Given the description of an element on the screen output the (x, y) to click on. 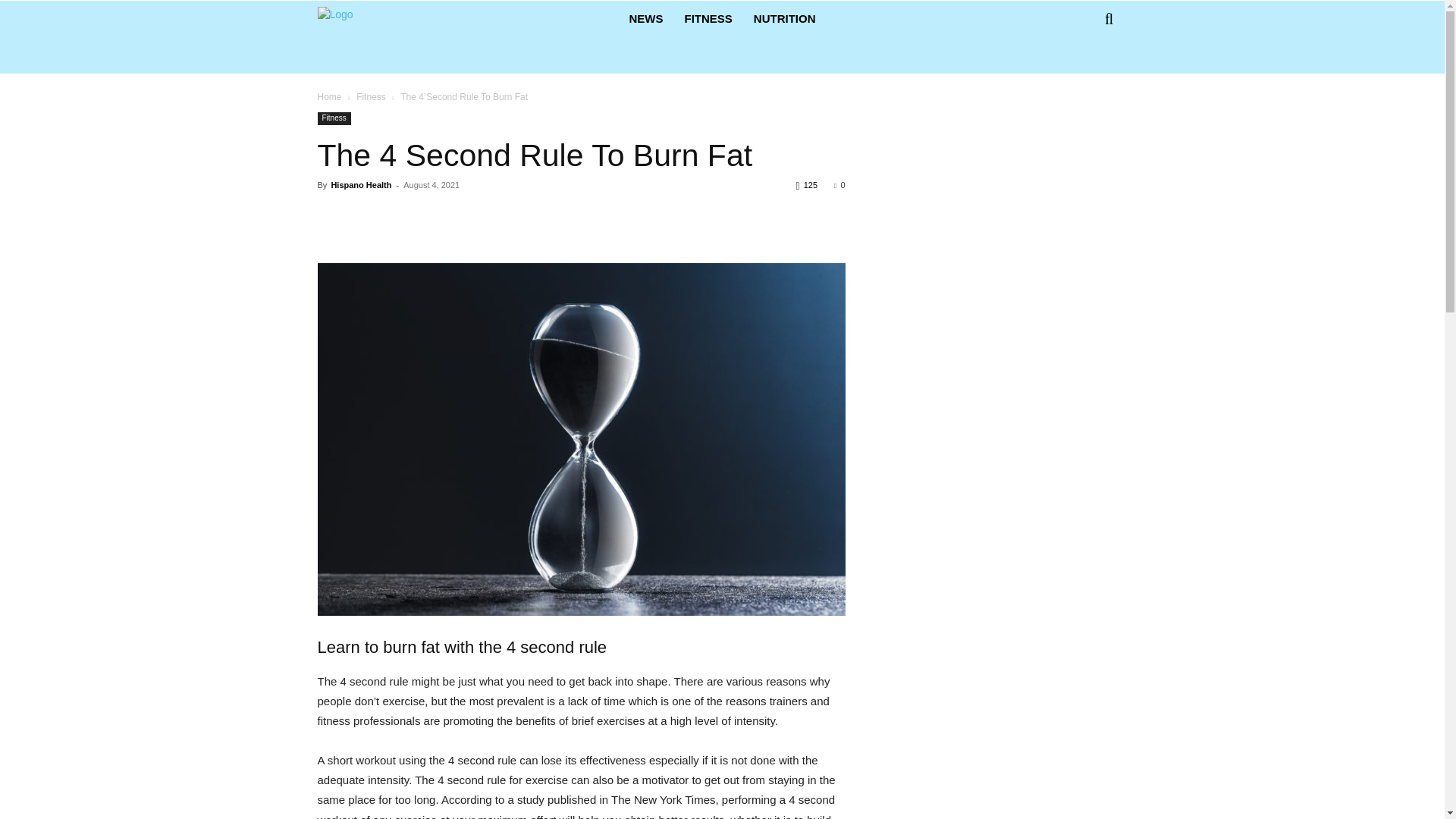
Hispano Health (360, 184)
NEWS (644, 18)
Fitness (370, 96)
FITNESS (707, 18)
0 (839, 184)
Home (328, 96)
Fitness (333, 118)
View all posts in Fitness (370, 96)
NUTRITION (784, 18)
